Given the description of an element on the screen output the (x, y) to click on. 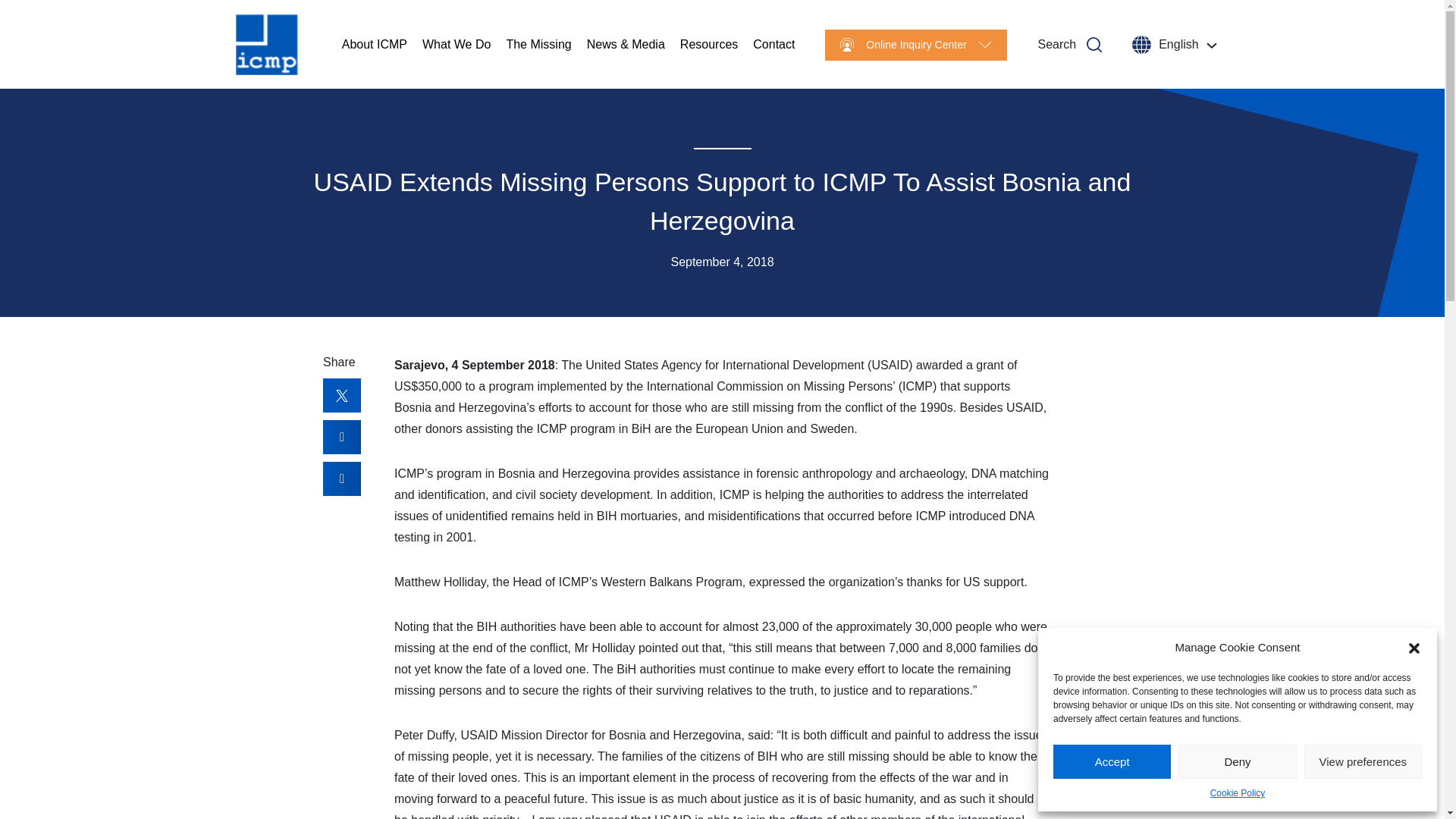
International Commission on Missing Persons (266, 44)
View preferences (1363, 761)
What We Do (456, 44)
About ICMP (374, 44)
Deny (1236, 761)
Accept (1111, 761)
Cookie Policy (1237, 793)
